Given the description of an element on the screen output the (x, y) to click on. 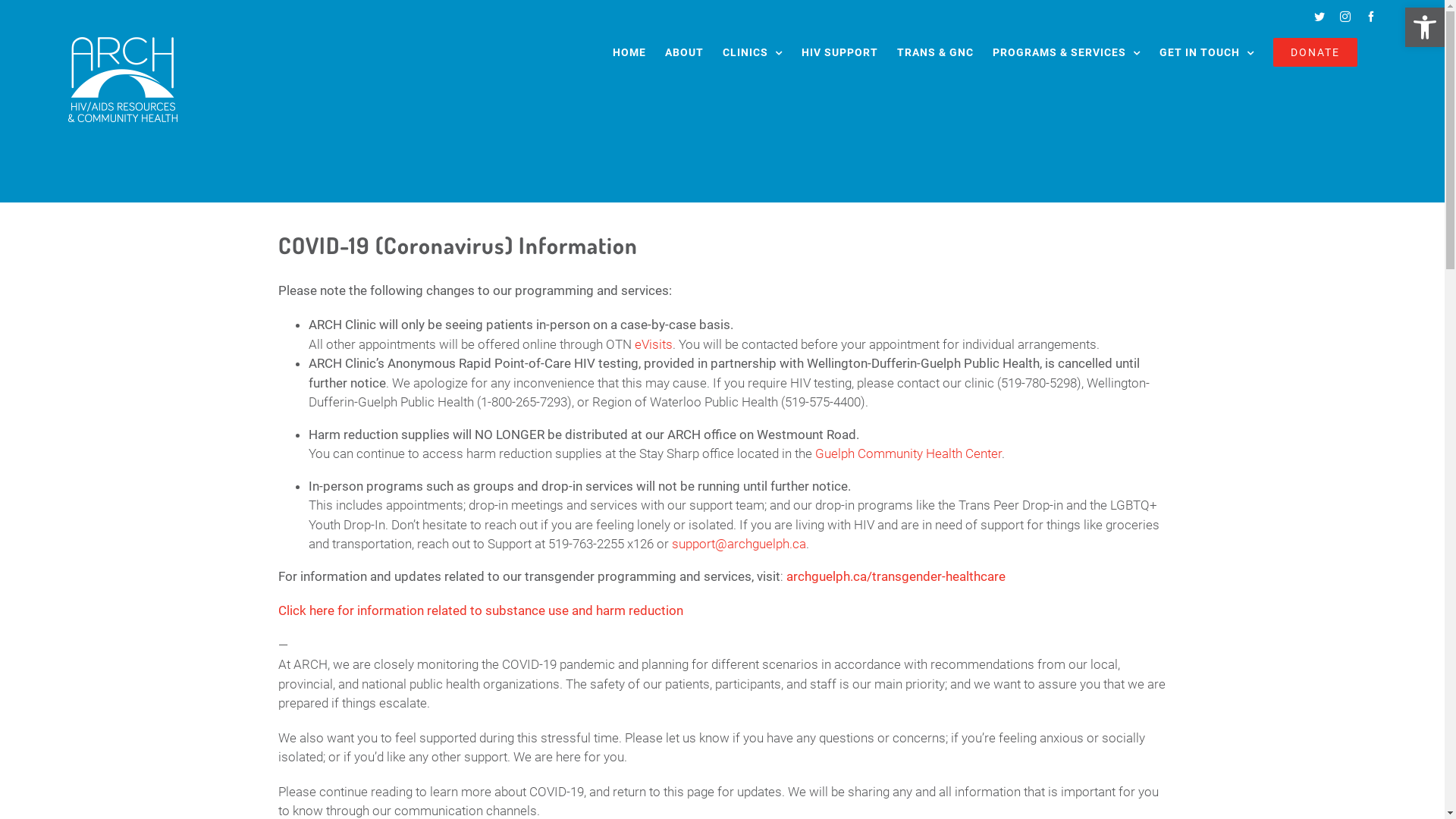
Instagram Element type: text (1344, 16)
archguelph.ca/transgender-healthcare Element type: text (895, 575)
HIV SUPPORT Element type: text (839, 52)
Twitter Element type: text (1319, 16)
Facebook Element type: text (1370, 16)
GET IN TOUCH Element type: text (1206, 52)
Open toolbar
Accessibility Tools Element type: text (1424, 27)
eVisits Element type: text (653, 343)
support@archguelph.ca Element type: text (738, 543)
CLINICS Element type: text (752, 52)
DONATE Element type: text (1315, 52)
PROGRAMS & SERVICES Element type: text (1066, 52)
ABOUT Element type: text (684, 52)
HOME Element type: text (629, 52)
Guelph Community Health Center Element type: text (908, 453)
TRANS & GNC Element type: text (935, 52)
